Given the description of an element on the screen output the (x, y) to click on. 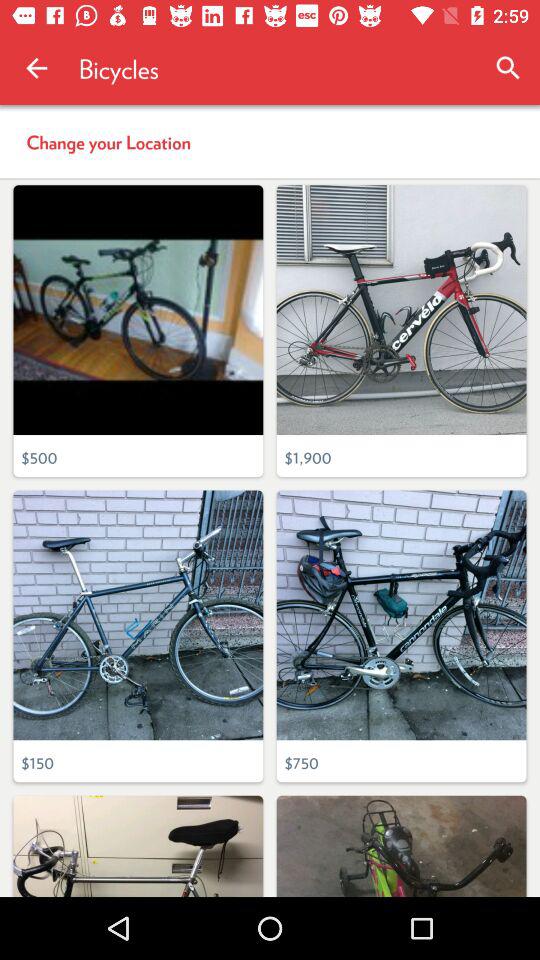
turn off icon to the right of bicycles icon (508, 67)
